Given the description of an element on the screen output the (x, y) to click on. 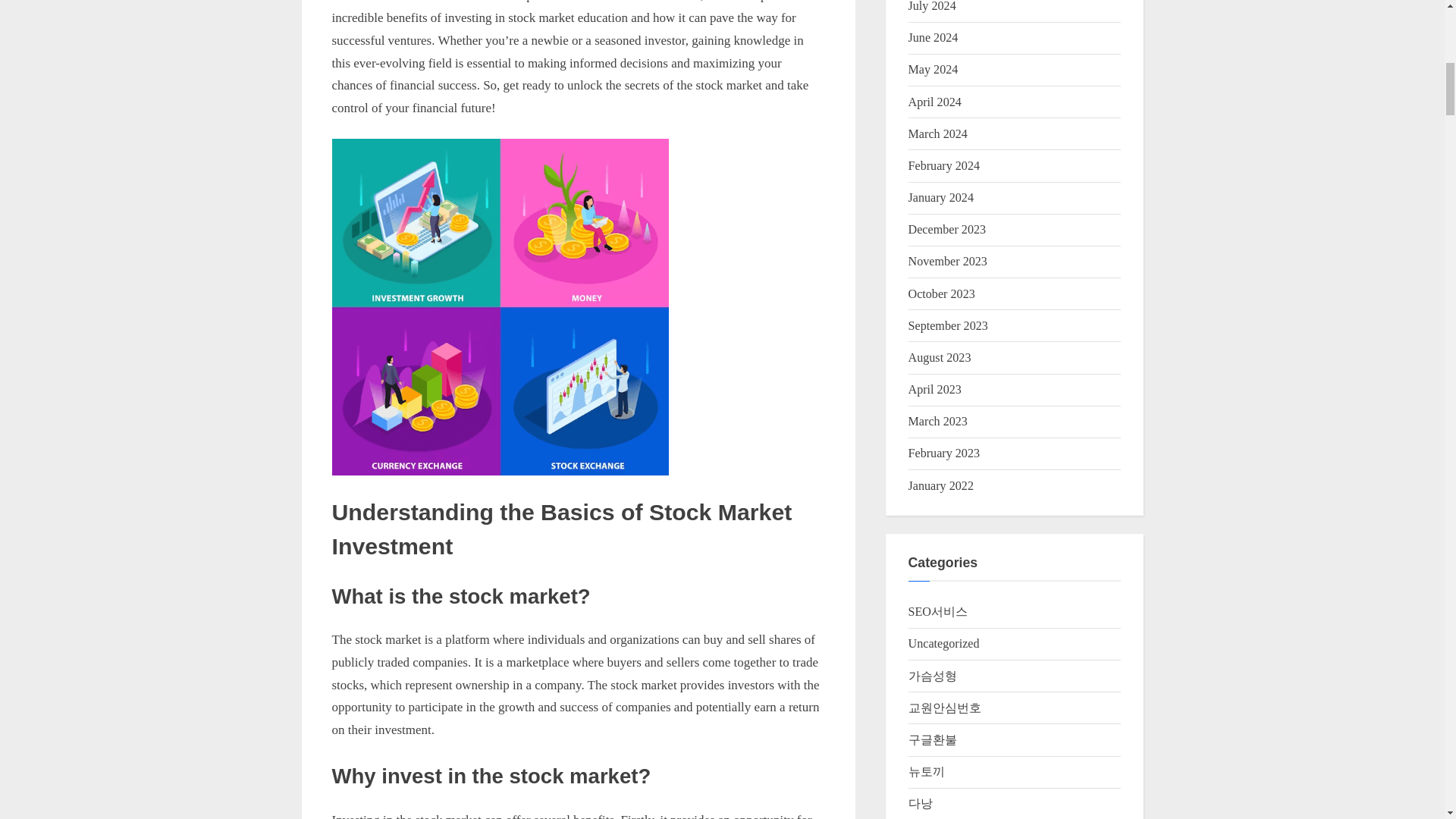
August 2023 (939, 357)
April 2023 (934, 389)
October 2023 (941, 293)
February 2023 (943, 452)
December 2023 (947, 228)
March 2024 (938, 133)
January 2024 (941, 196)
June 2024 (933, 37)
May 2024 (933, 69)
July 2024 (932, 6)
